Given the description of an element on the screen output the (x, y) to click on. 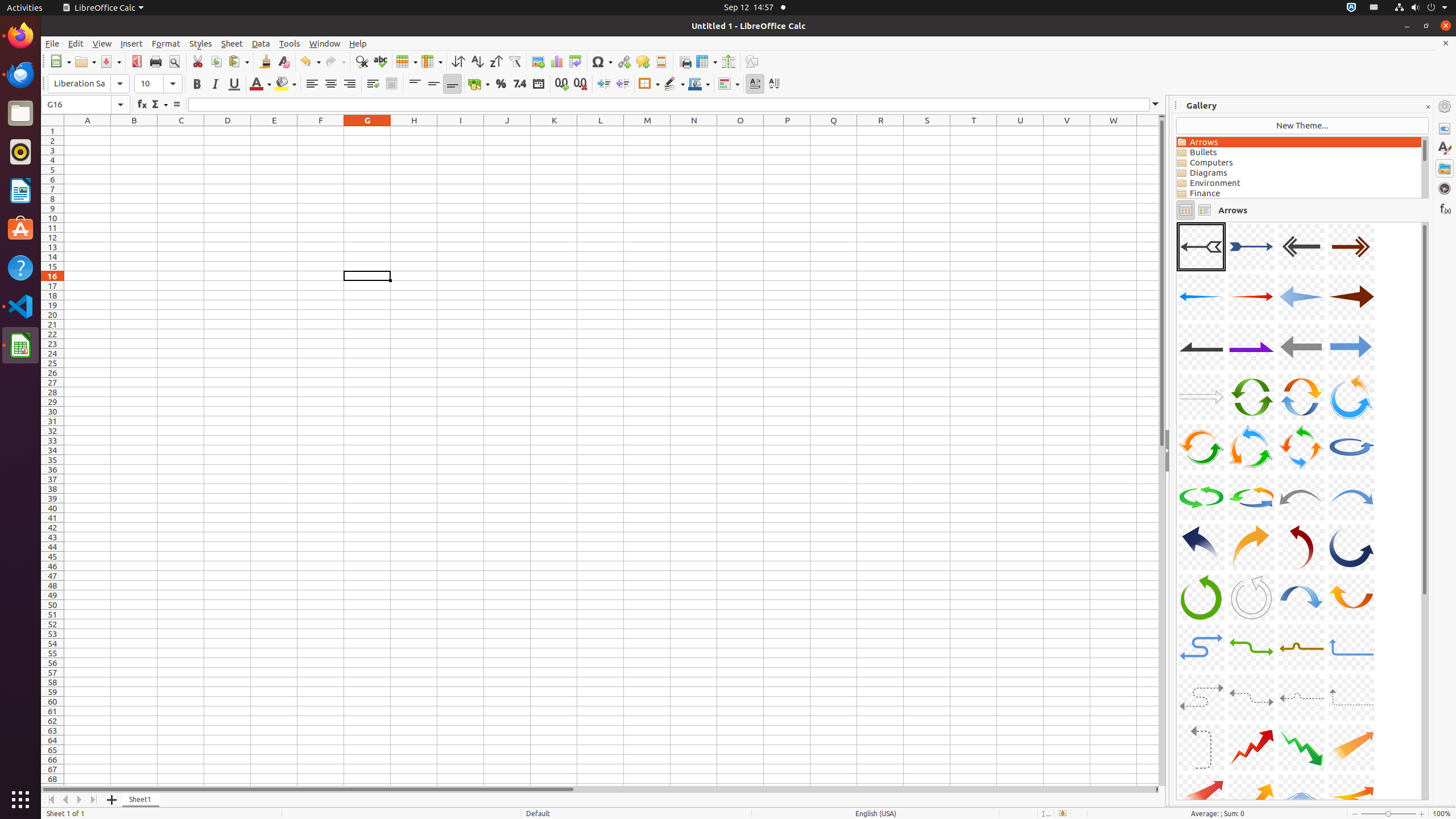
Column Element type: push-button (431, 61)
C1 Element type: table-cell (180, 130)
Move Right Element type: push-button (79, 799)
A45-TrendArrow-Red-GoUp Element type: list-item (1176, 222)
